Given the description of an element on the screen output the (x, y) to click on. 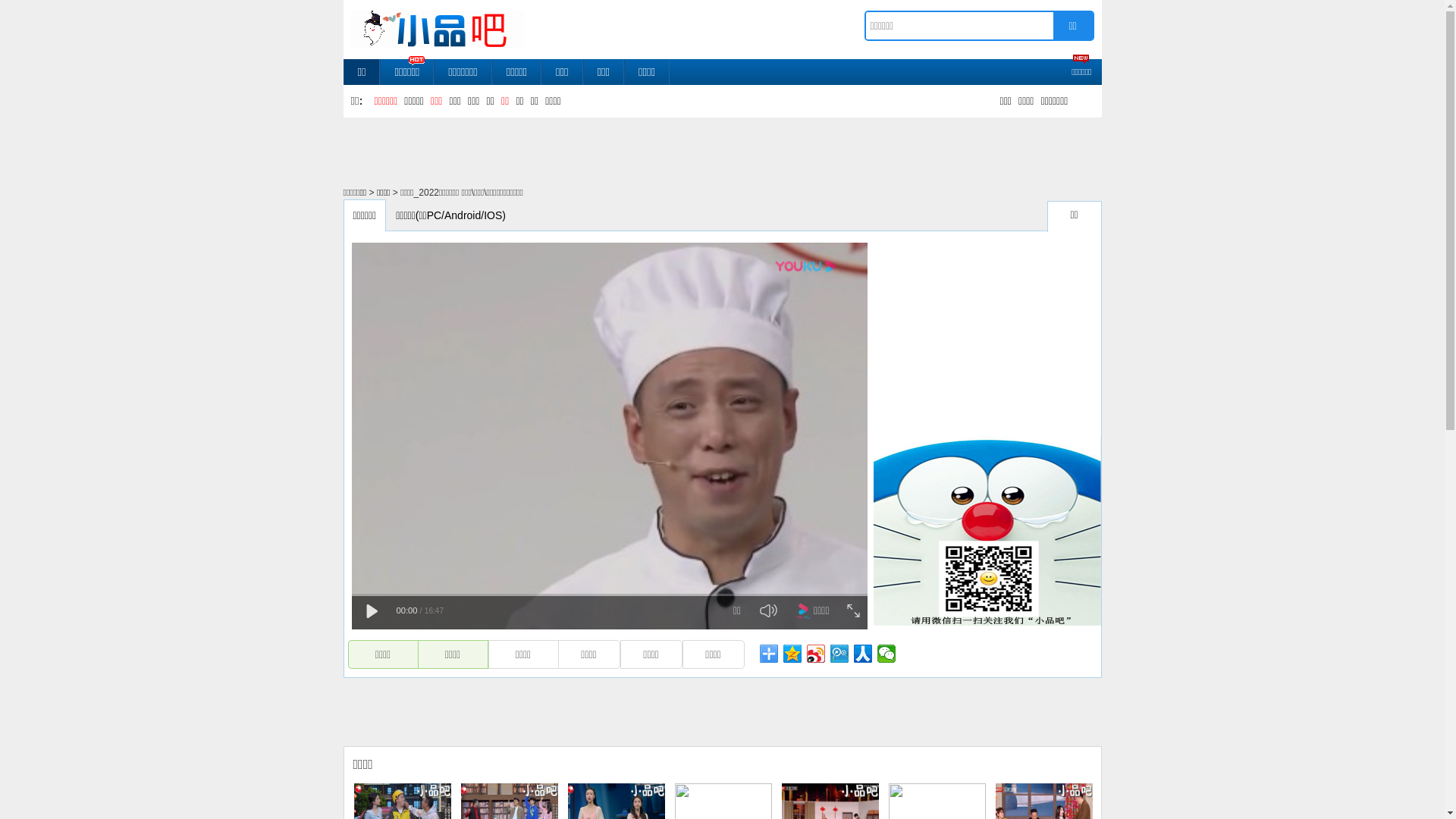
Advertisement Element type: hover (710, 150)
Advertisement Element type: hover (710, 711)
Advertisement Element type: hover (987, 332)
